Given the description of an element on the screen output the (x, y) to click on. 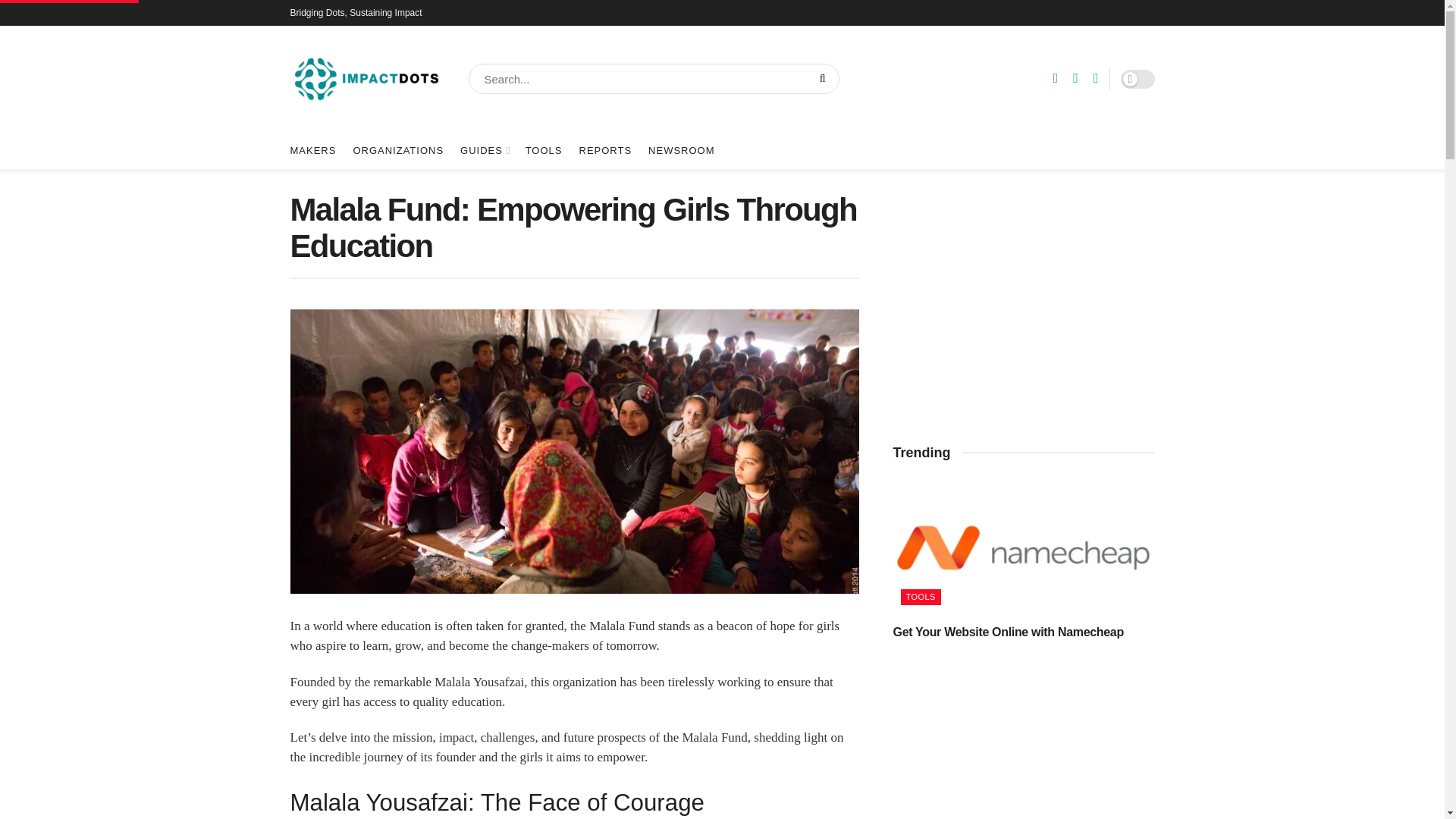
Advertisement (1023, 297)
REPORTS (605, 149)
TOOLS (543, 149)
MAKERS (312, 149)
Advertisement (1023, 747)
ORGANIZATIONS (398, 149)
NEWSROOM (680, 149)
GUIDES (484, 149)
